Given the description of an element on the screen output the (x, y) to click on. 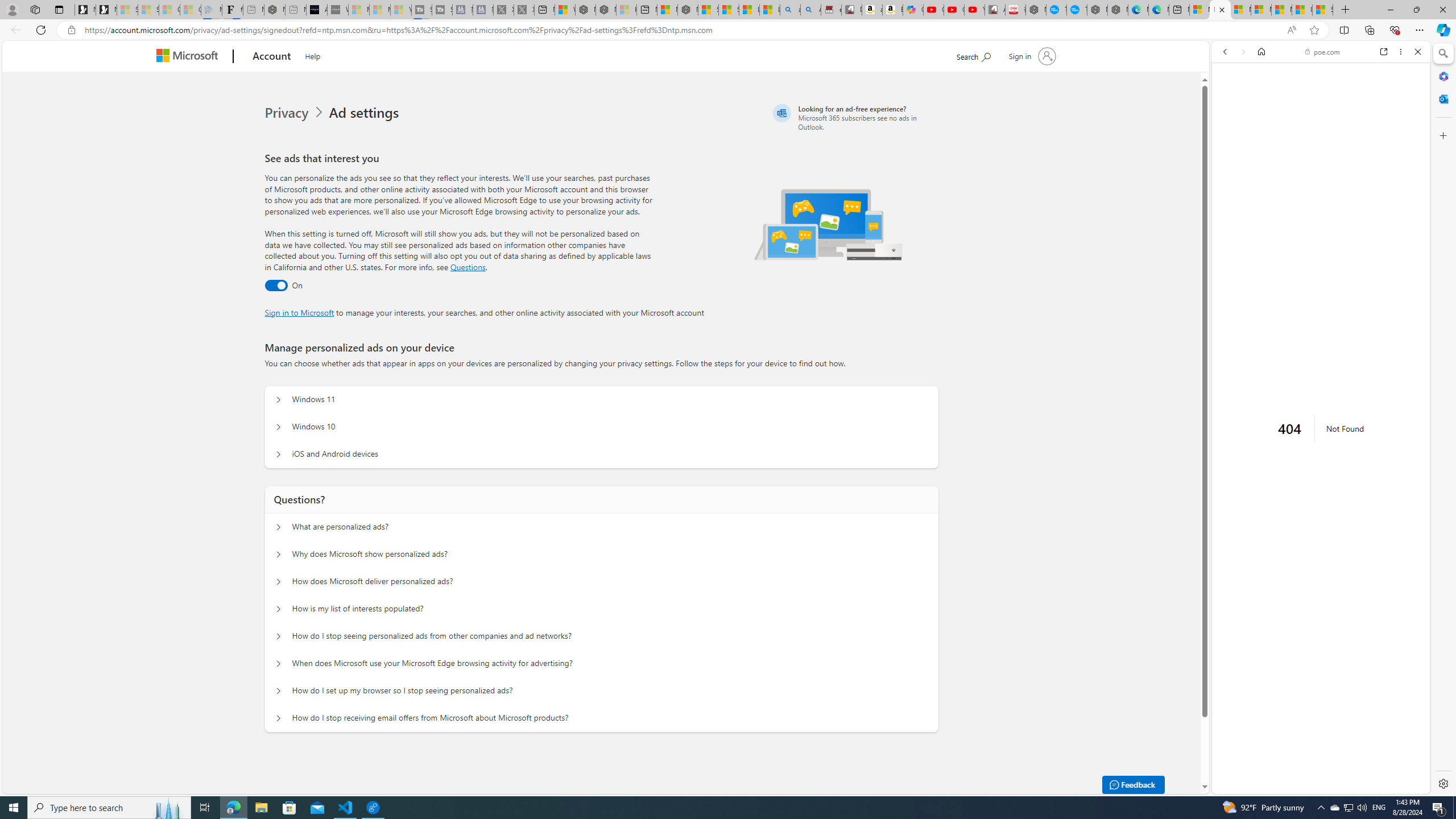
The most popular Google 'how to' searches (1076, 9)
YouTube Kids - An App Created for Kids to Explore Content (974, 9)
